Given the description of an element on the screen output the (x, y) to click on. 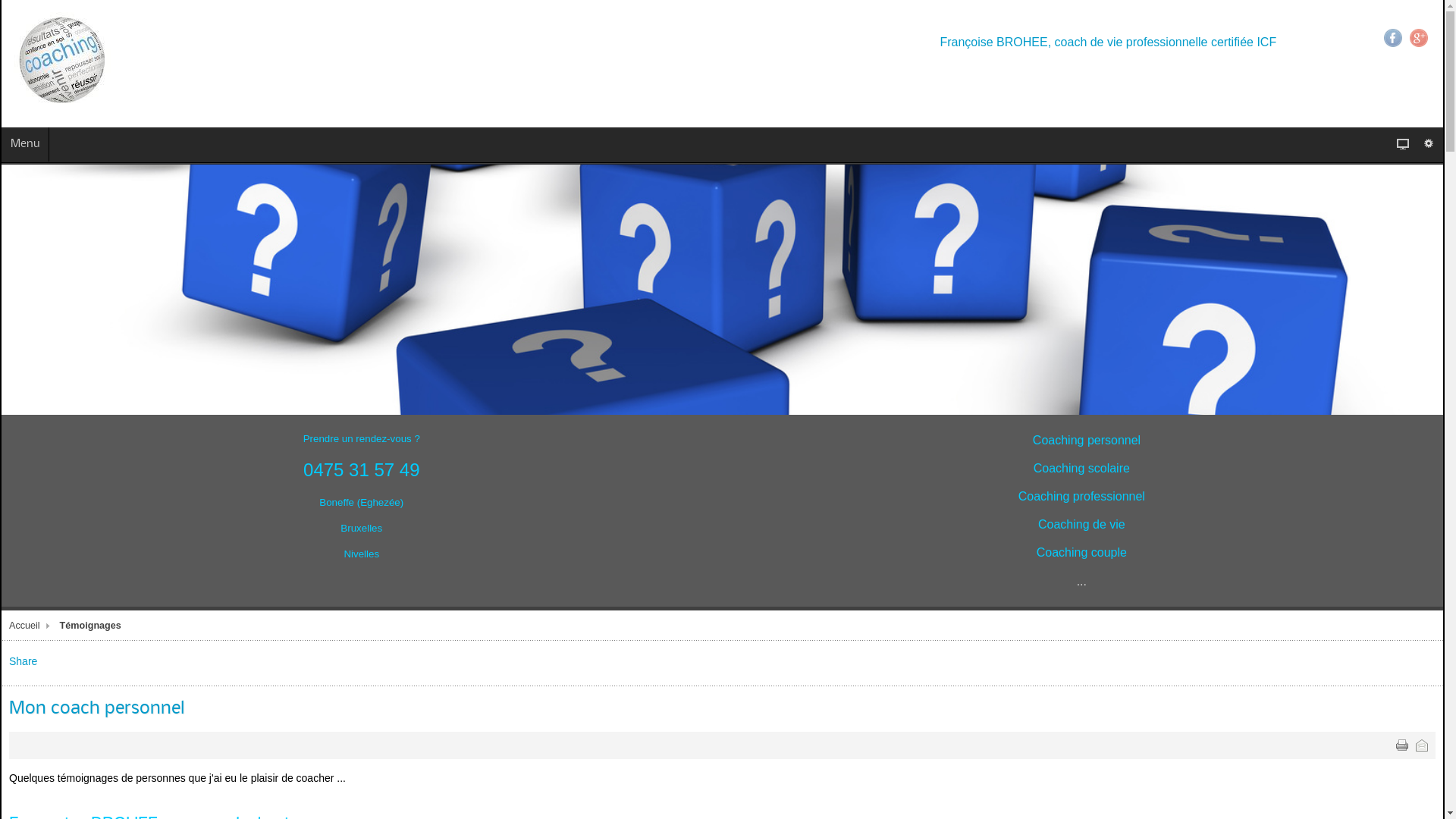
Coaching de vie Element type: text (1081, 524)
Coaching professionnel Element type: text (1081, 496)
Mon coach personnel Element type: text (96, 708)
E-mail Element type: hover (1421, 745)
  Element type: text (1421, 745)
Coaching personnel Element type: text (1086, 440)
Imprimer Element type: hover (1402, 745)
  Element type: text (1402, 745)
Accueil Element type: text (31, 625)
Coaching couple Element type: text (1081, 552)
Share Element type: text (23, 661)
Facebook Element type: text (1392, 37)
Google+ Element type: text (1418, 37)
